Given the description of an element on the screen output the (x, y) to click on. 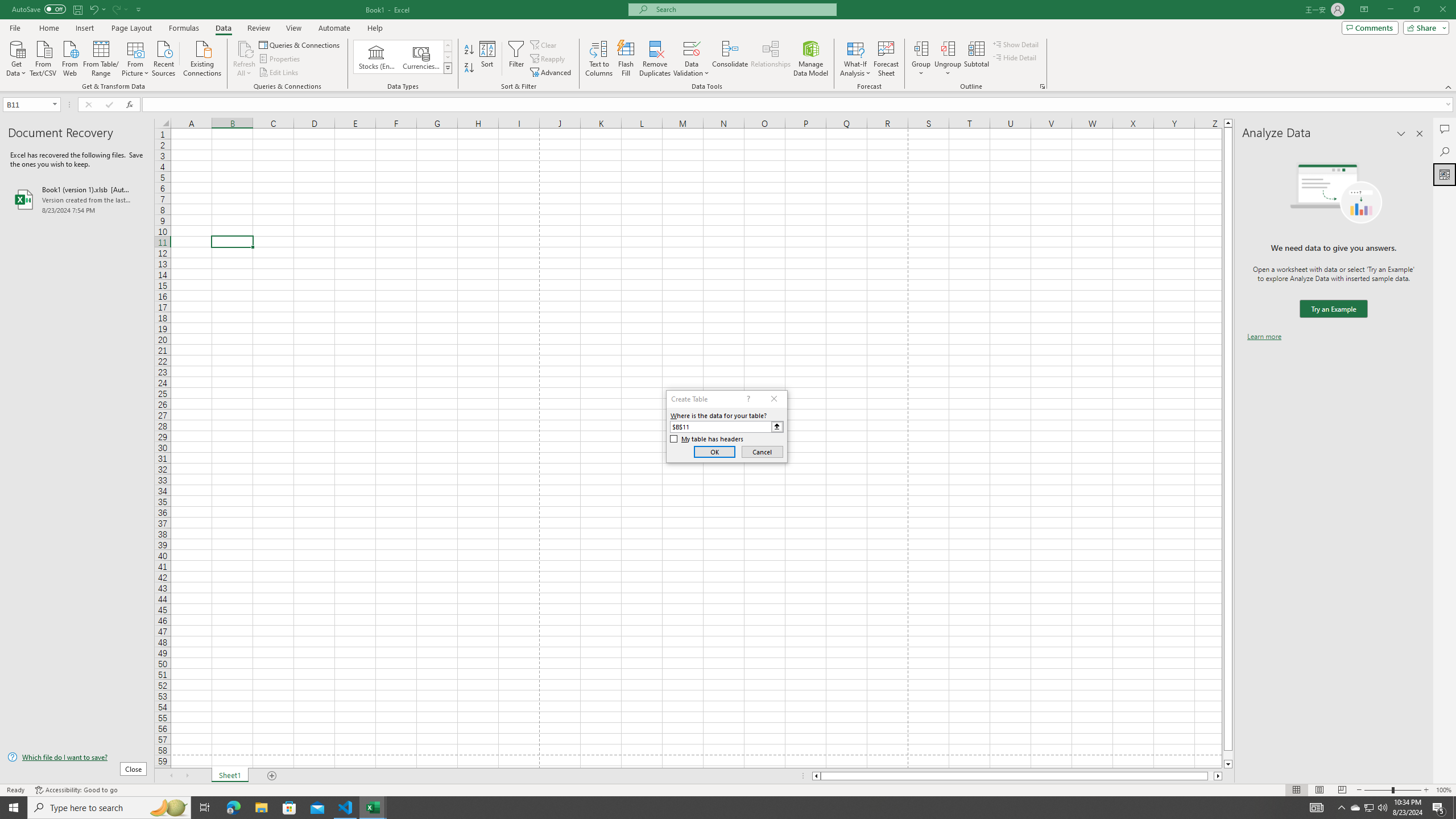
From Web (69, 57)
Clear (544, 44)
Class: NetUIImage (447, 68)
Comments (1369, 27)
Restore Down (1416, 9)
Sort A to Z (469, 49)
Zoom (1392, 790)
Close pane (1419, 133)
Page Break Preview (1342, 790)
Group... (921, 48)
Subtotal (976, 58)
Home (48, 28)
Row up (448, 45)
